Given the description of an element on the screen output the (x, y) to click on. 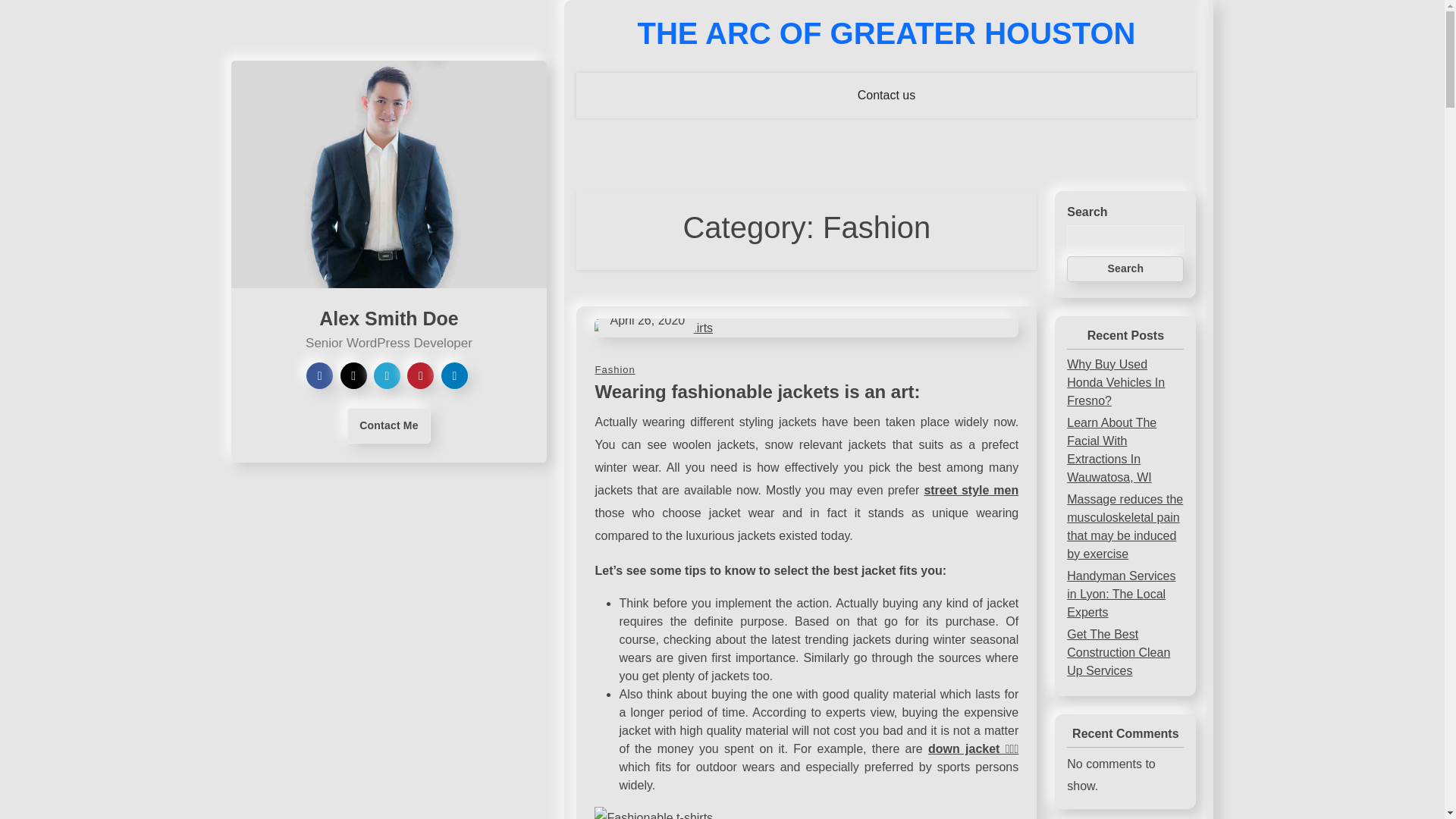
Wearing fashionable jackets is an art: (757, 391)
street style men (970, 490)
Why Buy Used Honda Vehicles In Fresno? (1115, 382)
Contact us (885, 95)
THE ARC OF GREATER HOUSTON (886, 33)
Search (1125, 268)
Contact Me (388, 425)
Fashion (614, 369)
